Given the description of an element on the screen output the (x, y) to click on. 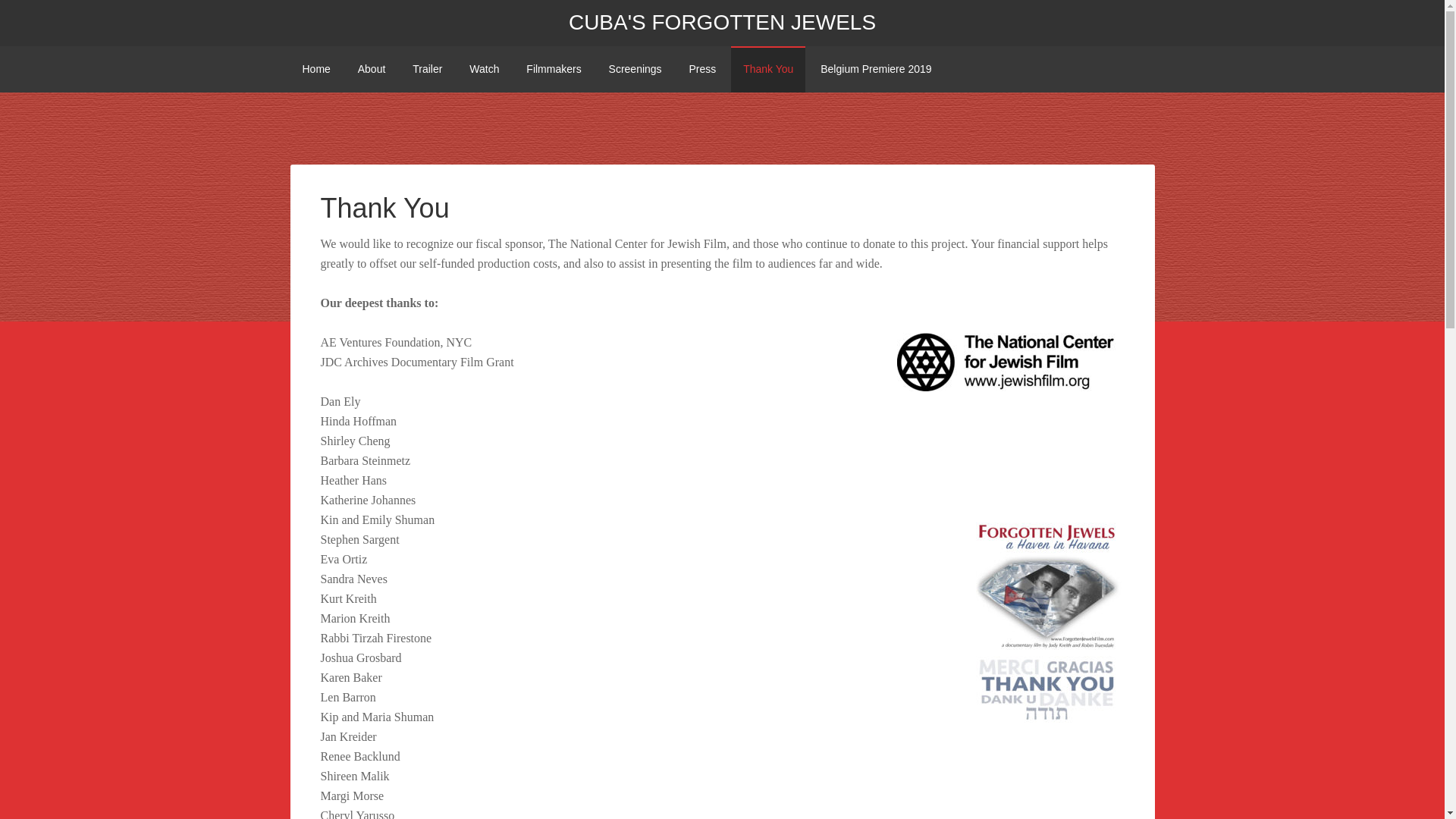
Screenings (635, 68)
CUBA'S FORGOTTEN JEWELS (722, 22)
Thank You (767, 68)
About (371, 68)
Filmmakers (552, 68)
Press (702, 68)
Home (315, 68)
Belgium Premiere 2019 (875, 68)
Trailer (427, 68)
Watch (484, 68)
